Given the description of an element on the screen output the (x, y) to click on. 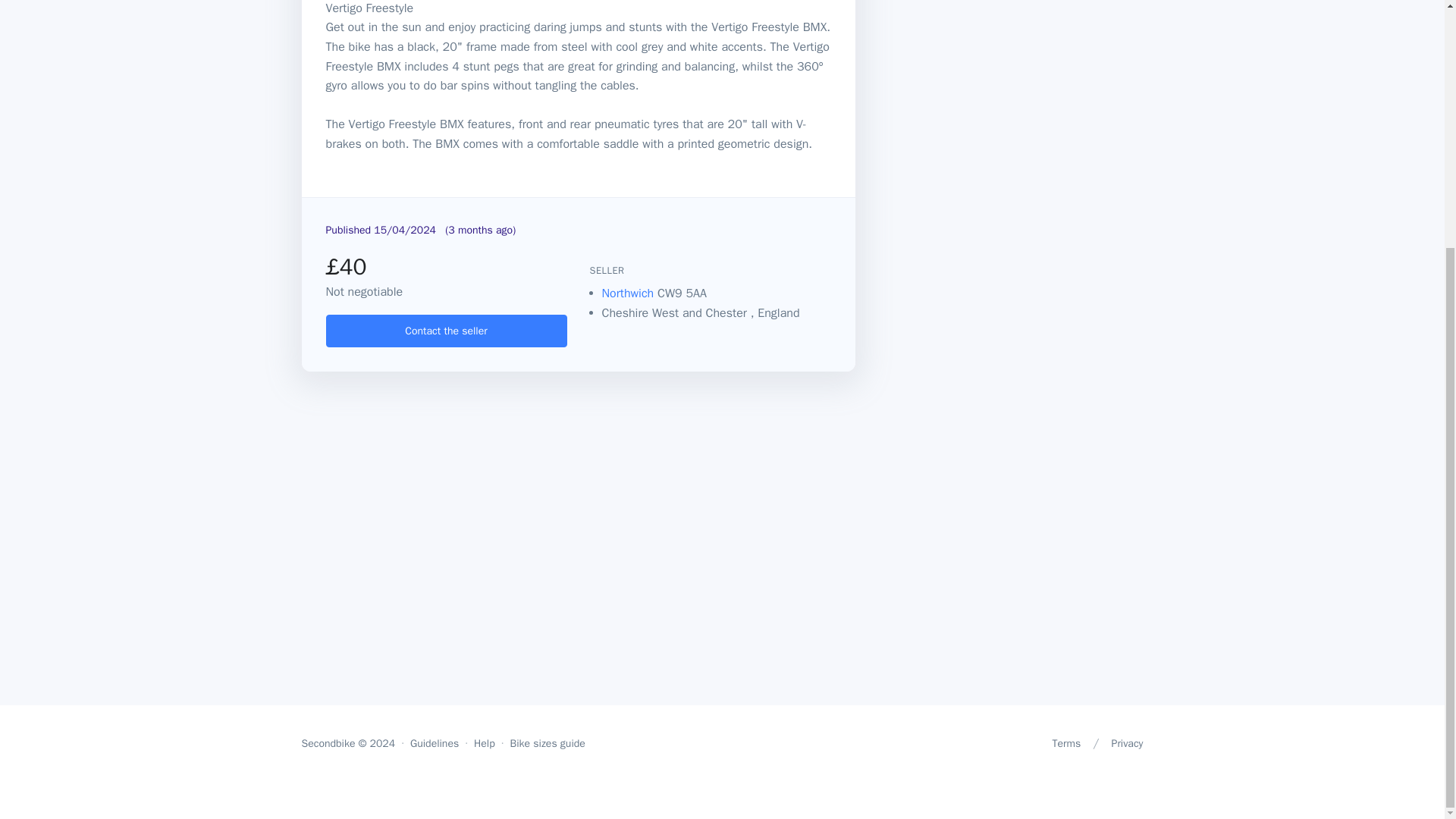
Guidelines (434, 743)
Northwich (630, 293)
Terms (1065, 743)
Create an account (446, 330)
Bicycles in Northwich (630, 293)
Terms (1065, 743)
Privacy (1127, 743)
Bike sizes guide (548, 743)
Advertisement (1009, 27)
What is the right bike size for me? (548, 743)
Contact the seller (446, 330)
Privacy (1127, 743)
Guidelines (434, 743)
